Given the description of an element on the screen output the (x, y) to click on. 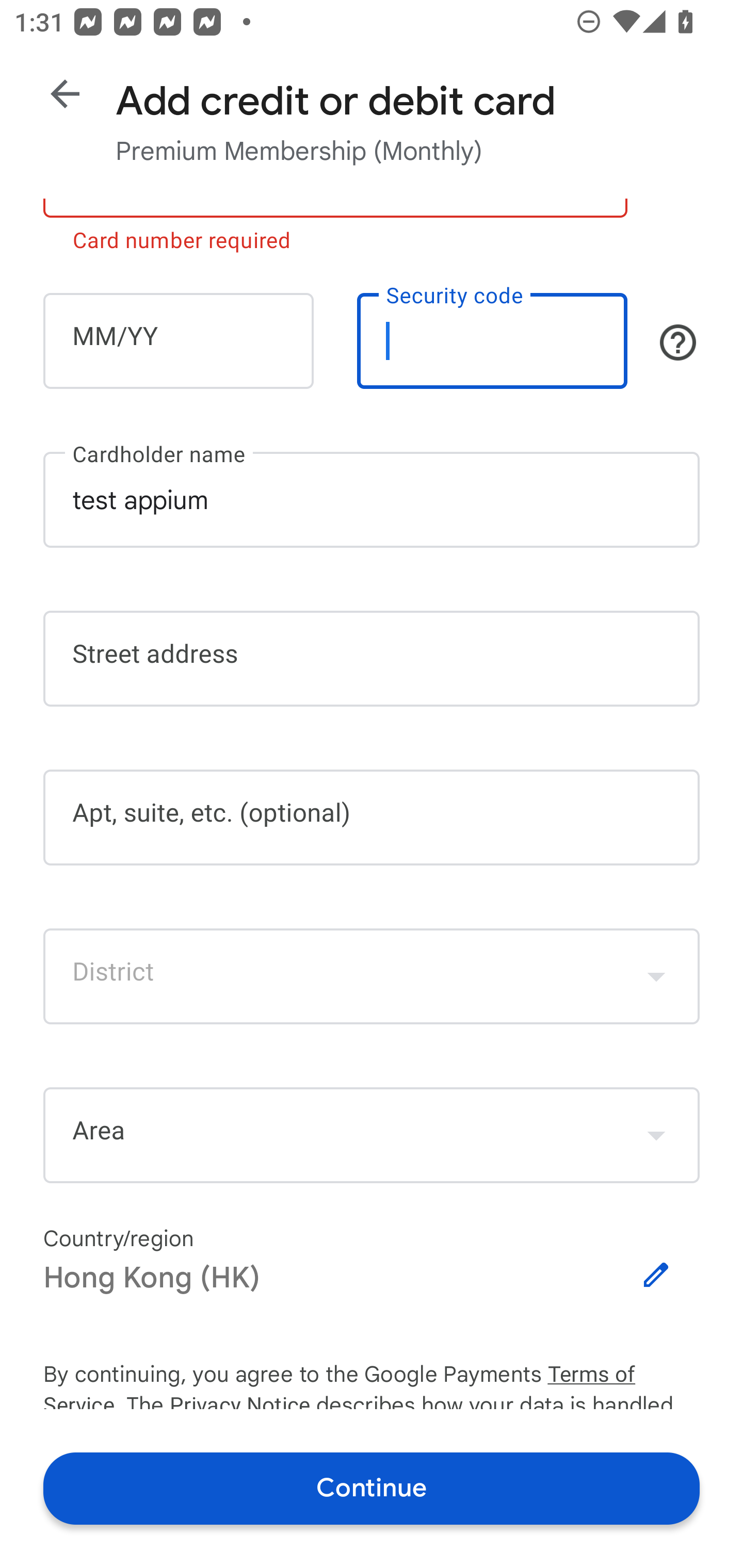
Back (64, 93)
Expiration date, 2 digit month, 2 digit year (178, 340)
Security code (492, 340)
Security code help (677, 342)
test appium (371, 499)
Street address (371, 658)
Apt, suite, etc. (optional) (371, 817)
District (371, 975)
Show dropdown menu (655, 975)
Area (371, 1134)
Show dropdown menu (655, 1135)
country edit button (655, 1275)
Terms of Service (623, 1374)
Continue (371, 1487)
